Given the description of an element on the screen output the (x, y) to click on. 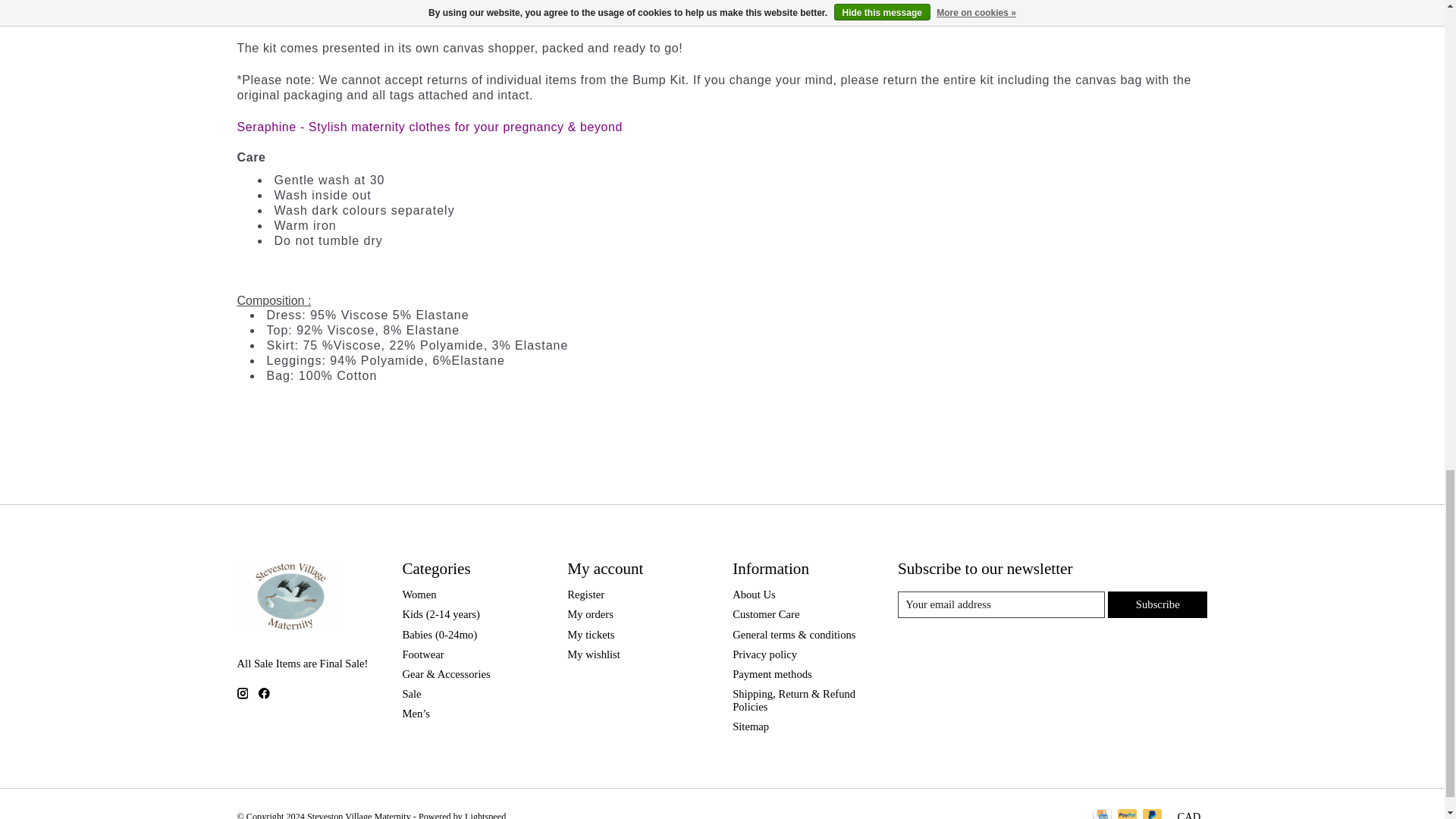
My wishlist (593, 654)
Register (585, 594)
My orders (589, 613)
My tickets (590, 634)
